Given the description of an element on the screen output the (x, y) to click on. 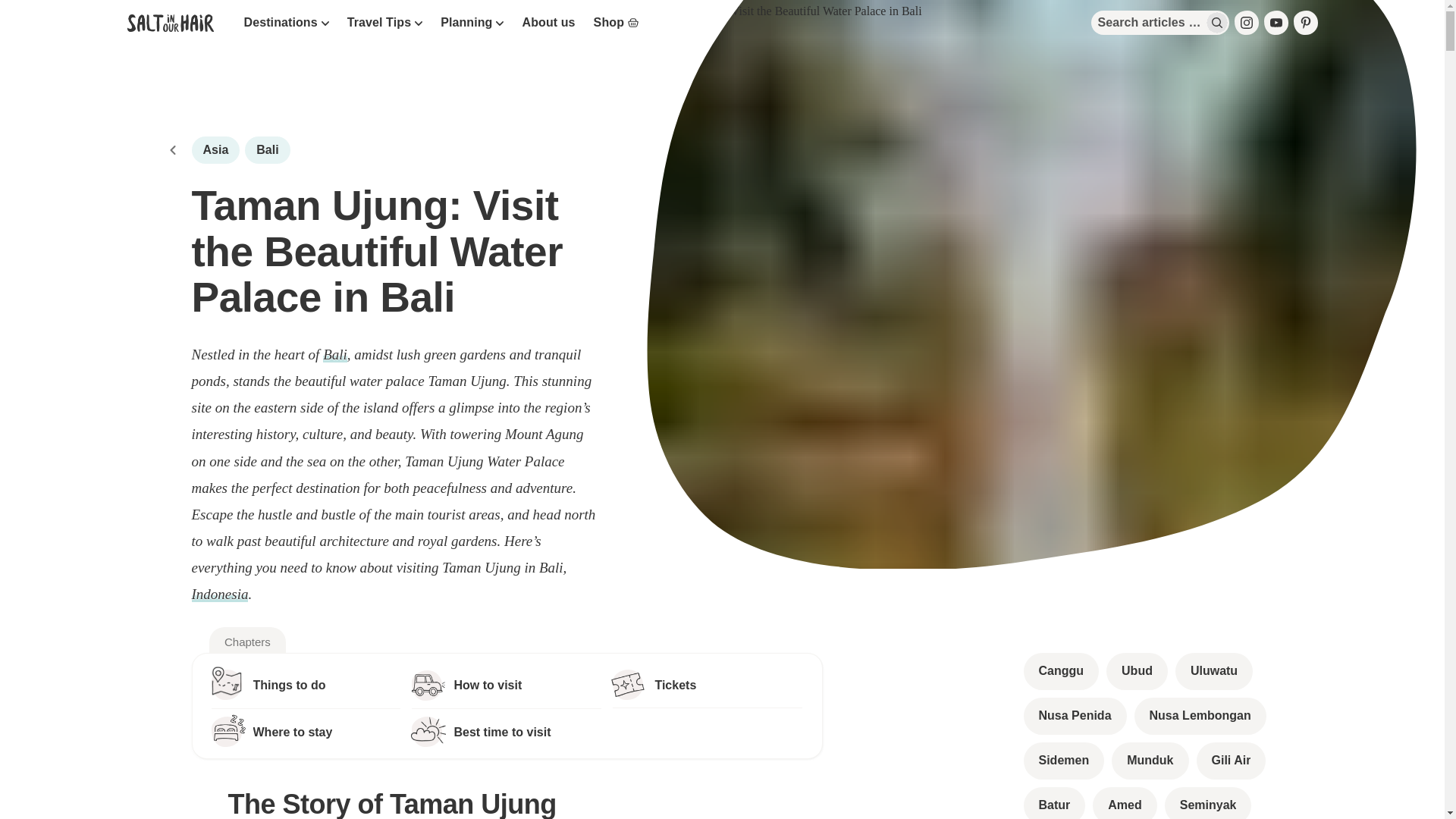
How to visit (506, 684)
Best time to visit (506, 731)
Asia (215, 149)
Indonesia (218, 593)
Bali (266, 149)
Tickets (707, 684)
Where to stay (305, 731)
asia (215, 149)
Home (172, 149)
Bali (335, 354)
Things to do (305, 684)
